Given the description of an element on the screen output the (x, y) to click on. 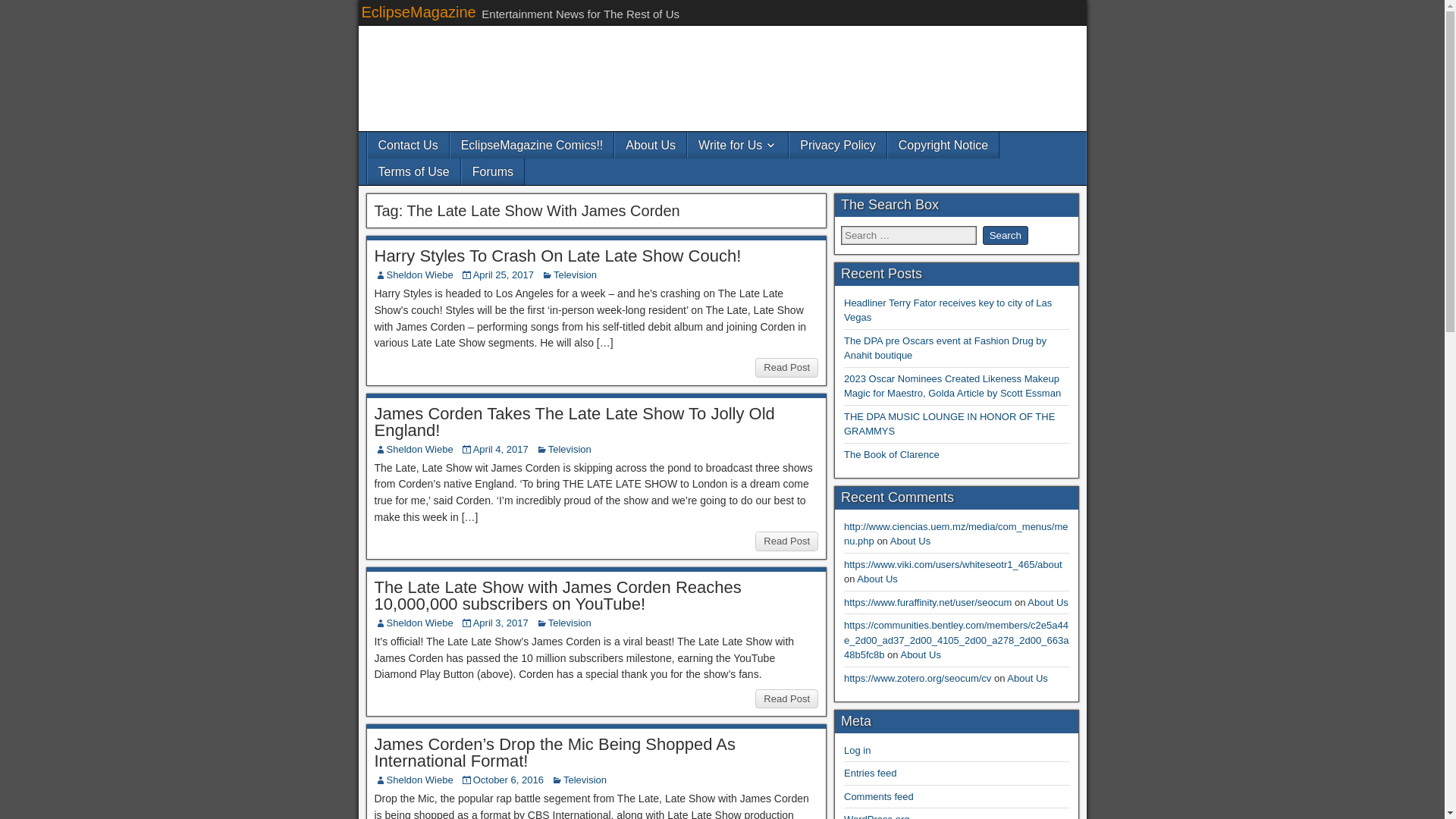
April 3, 2017 (500, 622)
Read Post (786, 699)
About Us (649, 144)
Search (1004, 235)
Contact Us (407, 144)
Sheldon Wiebe (419, 622)
Harry Styles To Crash On Late Late Show Couch! (557, 255)
Television (574, 274)
James Corden Takes The Late Late Show To Jolly Old England! (574, 421)
